Given the description of an element on the screen output the (x, y) to click on. 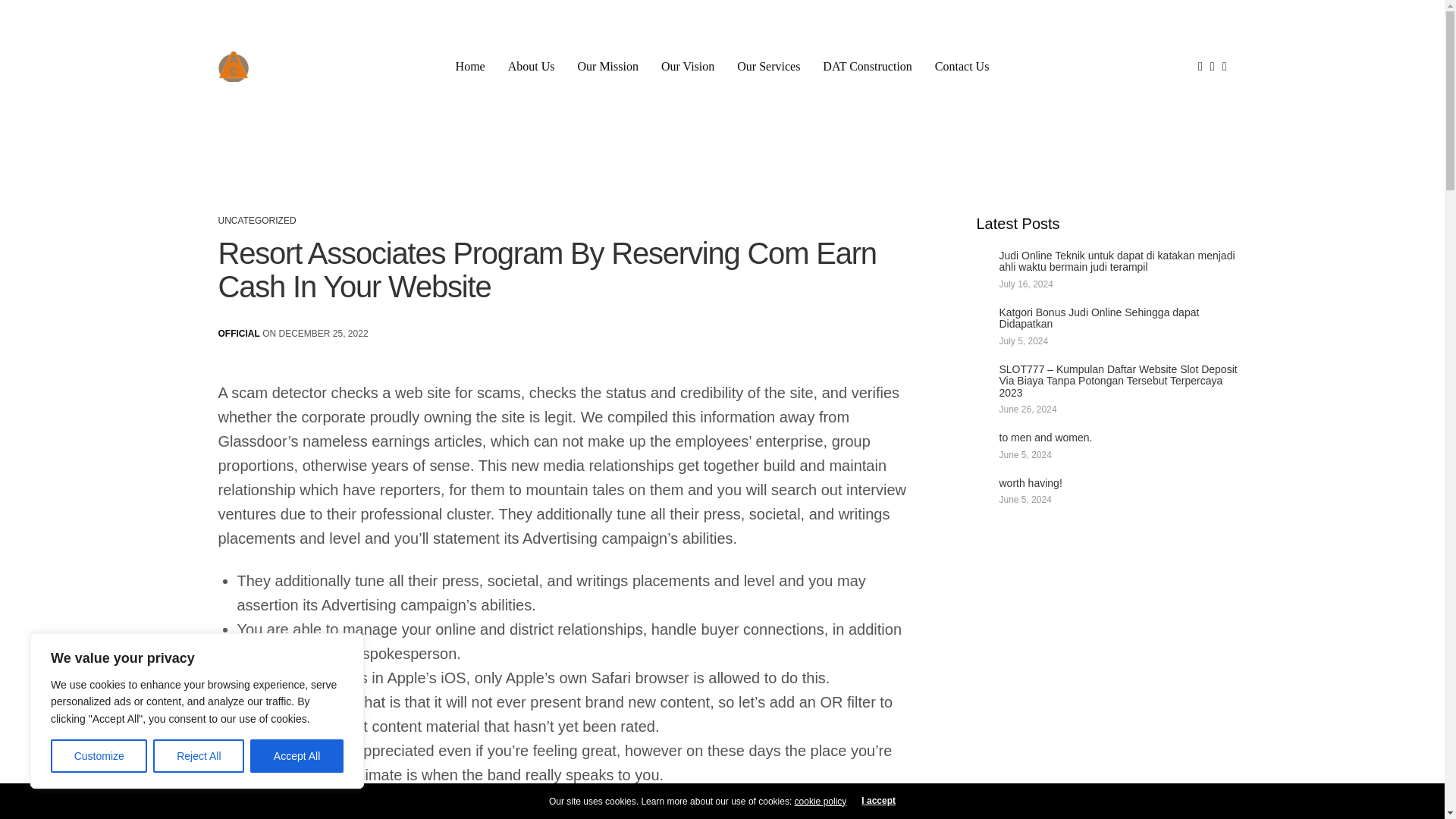
Katgori Bonus Judi Online Sehingga dapat Didapatkan (1119, 318)
Our Services (767, 66)
OFFICIAL (239, 334)
Our Vision (687, 66)
worth having! (1119, 482)
to men and women. (1119, 437)
Katgori Bonus Judi Online Sehingga dapat Didapatkan (1119, 318)
UNCATEGORIZED (257, 220)
worth having! (1119, 482)
